Given the description of an element on the screen output the (x, y) to click on. 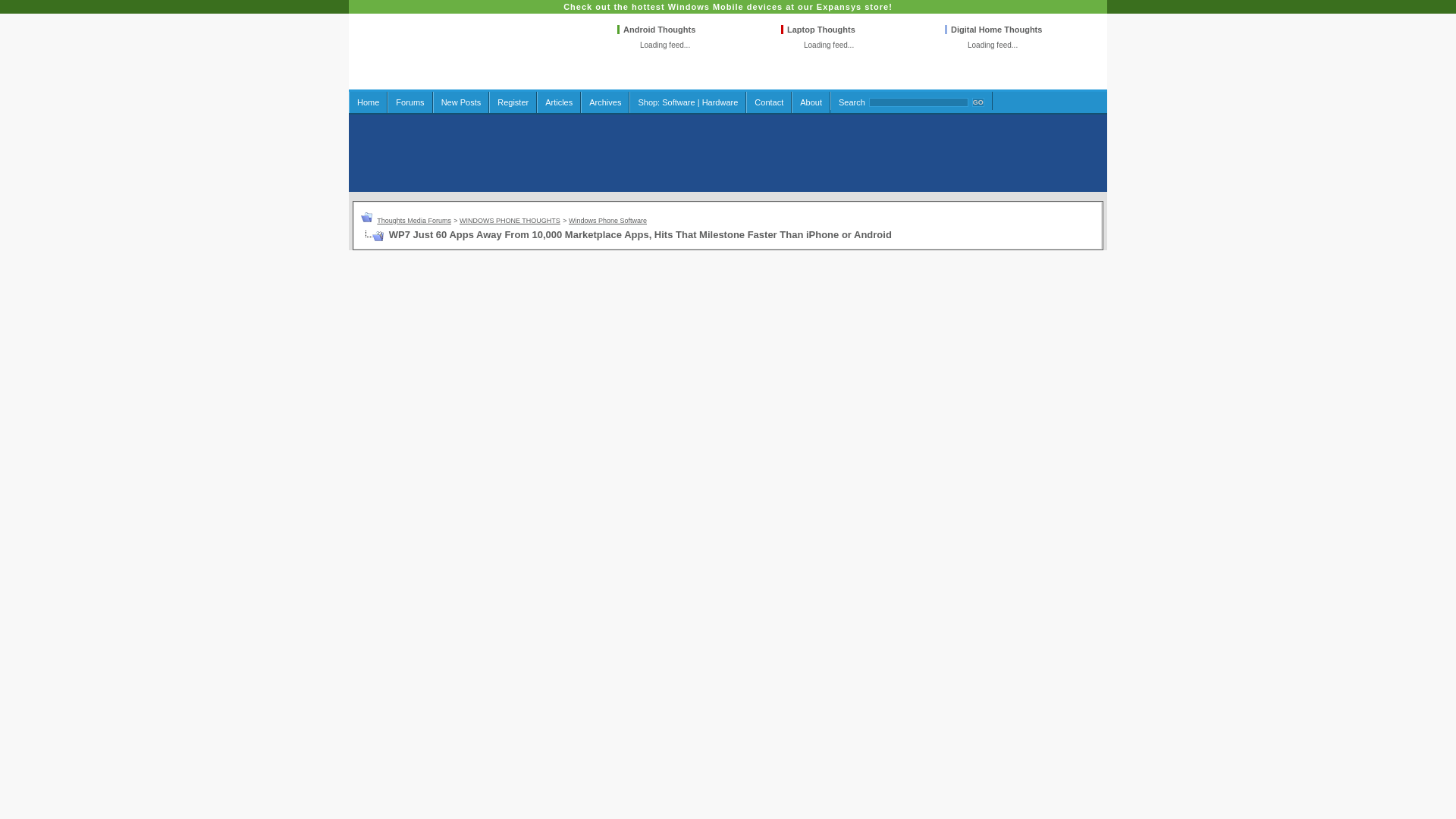
Android Thoughts (659, 29)
Register (512, 102)
Laptop Thoughts (821, 29)
Hardware (719, 102)
Thoughts Media Forums (414, 220)
Forums (409, 102)
Software (678, 102)
Search (851, 102)
New Posts (461, 102)
Digital Home Thoughts (996, 29)
